Given the description of an element on the screen output the (x, y) to click on. 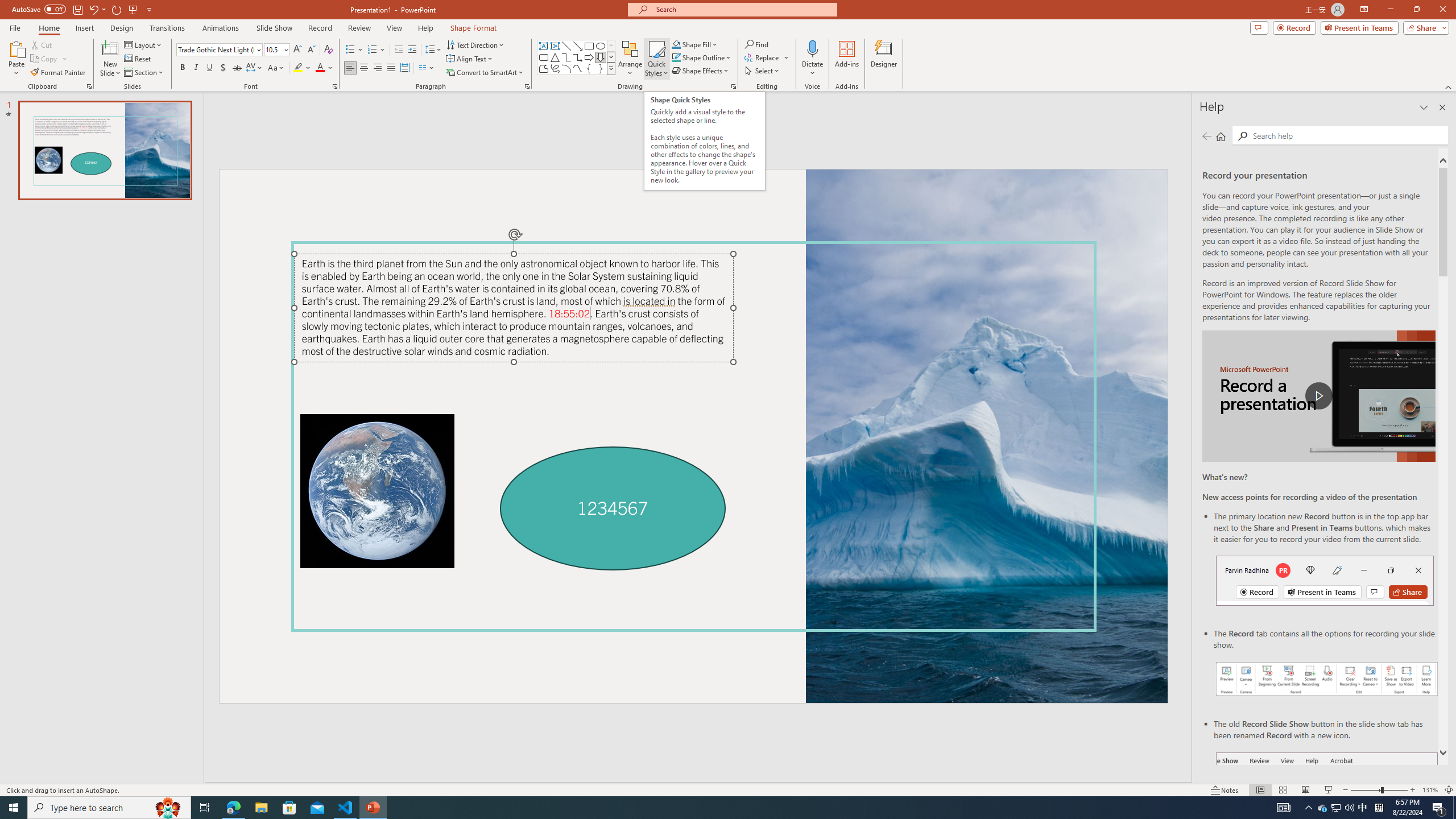
Freeform: Shape (543, 68)
AutomationID: ShapesInsertGallery (576, 57)
Rectangle (589, 45)
Increase Indent (412, 49)
Decrease Indent (398, 49)
Previous page (1206, 136)
Font Color (324, 67)
Increase Font Size (297, 49)
